Given the description of an element on the screen output the (x, y) to click on. 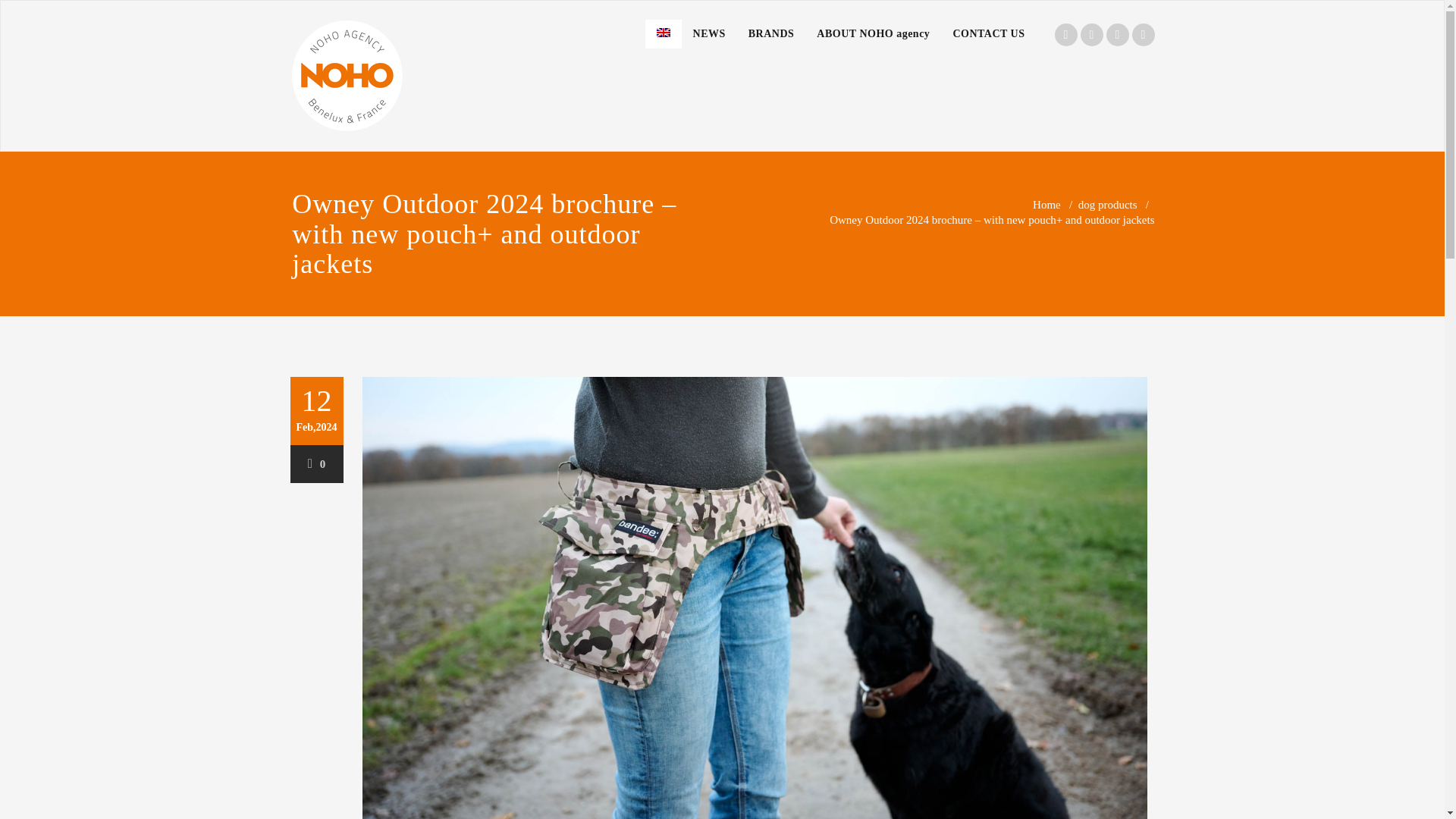
CONTACT US (987, 33)
dog products (1107, 204)
0 (316, 463)
ABOUT NOHO agency (872, 33)
NEWS (708, 33)
Home (1046, 204)
BRANDS (771, 33)
